Given the description of an element on the screen output the (x, y) to click on. 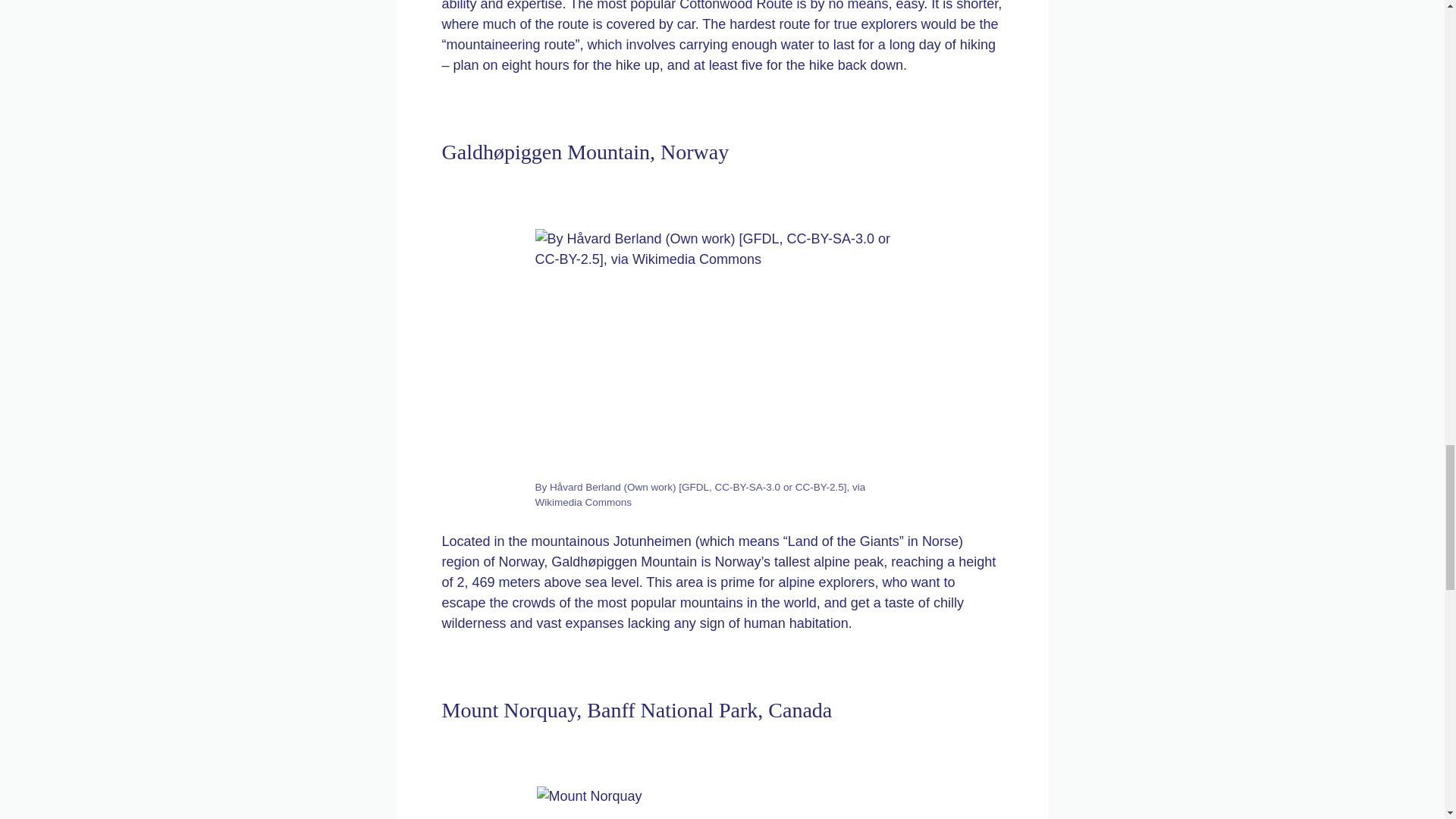
CC-BY-2.5 (819, 487)
CC-BY-SA-3.0 (747, 487)
GFDL (695, 487)
via Wikimedia Commons (700, 494)
Mount Norquay (722, 802)
